Given the description of an element on the screen output the (x, y) to click on. 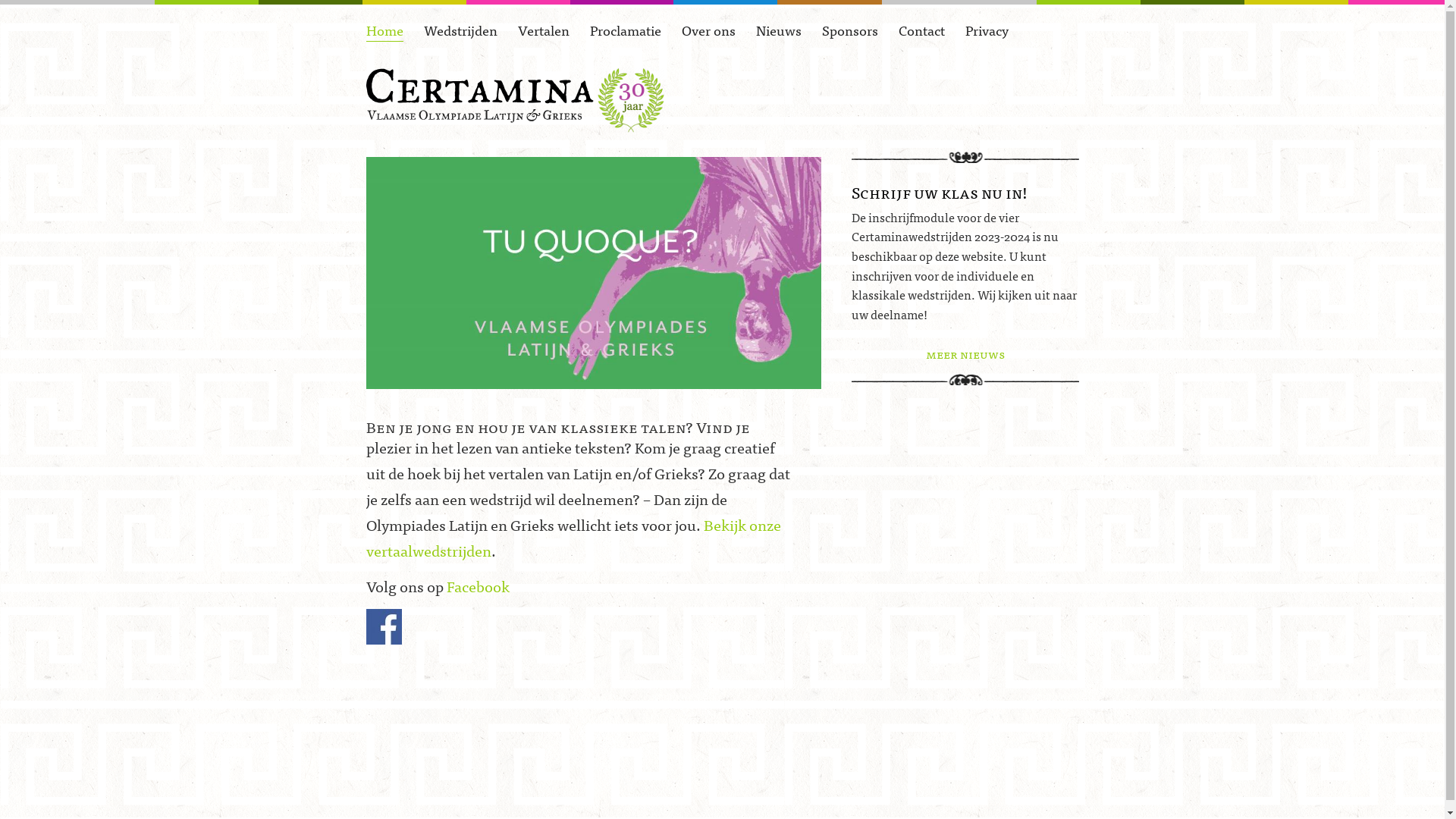
Privacy Element type: text (985, 29)
Home Element type: text (383, 29)
Bekijk onze vertaalwedstrijden Element type: text (572, 536)
meer nieuws Element type: text (964, 353)
Vertalen Element type: text (542, 29)
Contact Element type: text (920, 29)
Wedstrijden Element type: text (459, 29)
Proclamatie Element type: text (625, 29)
Facebook Element type: text (476, 585)
Sponsors Element type: text (850, 29)
Nieuws Element type: text (777, 29)
Over ons Element type: text (707, 29)
Schrijf uw klas nu in! Element type: text (939, 191)
